Given the description of an element on the screen output the (x, y) to click on. 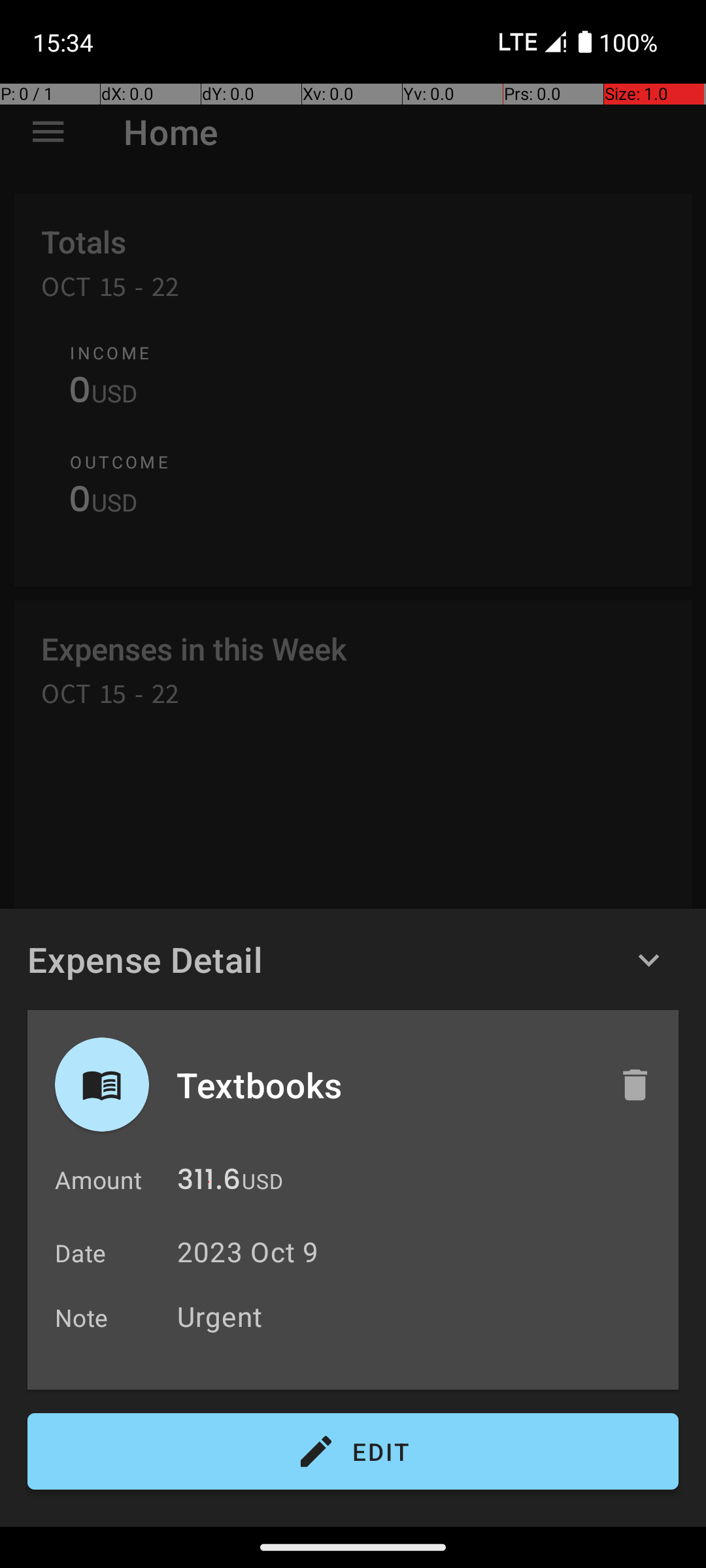
Textbooks Element type: android.widget.TextView (383, 1084)
311.6 Element type: android.widget.TextView (208, 1182)
